Given the description of an element on the screen output the (x, y) to click on. 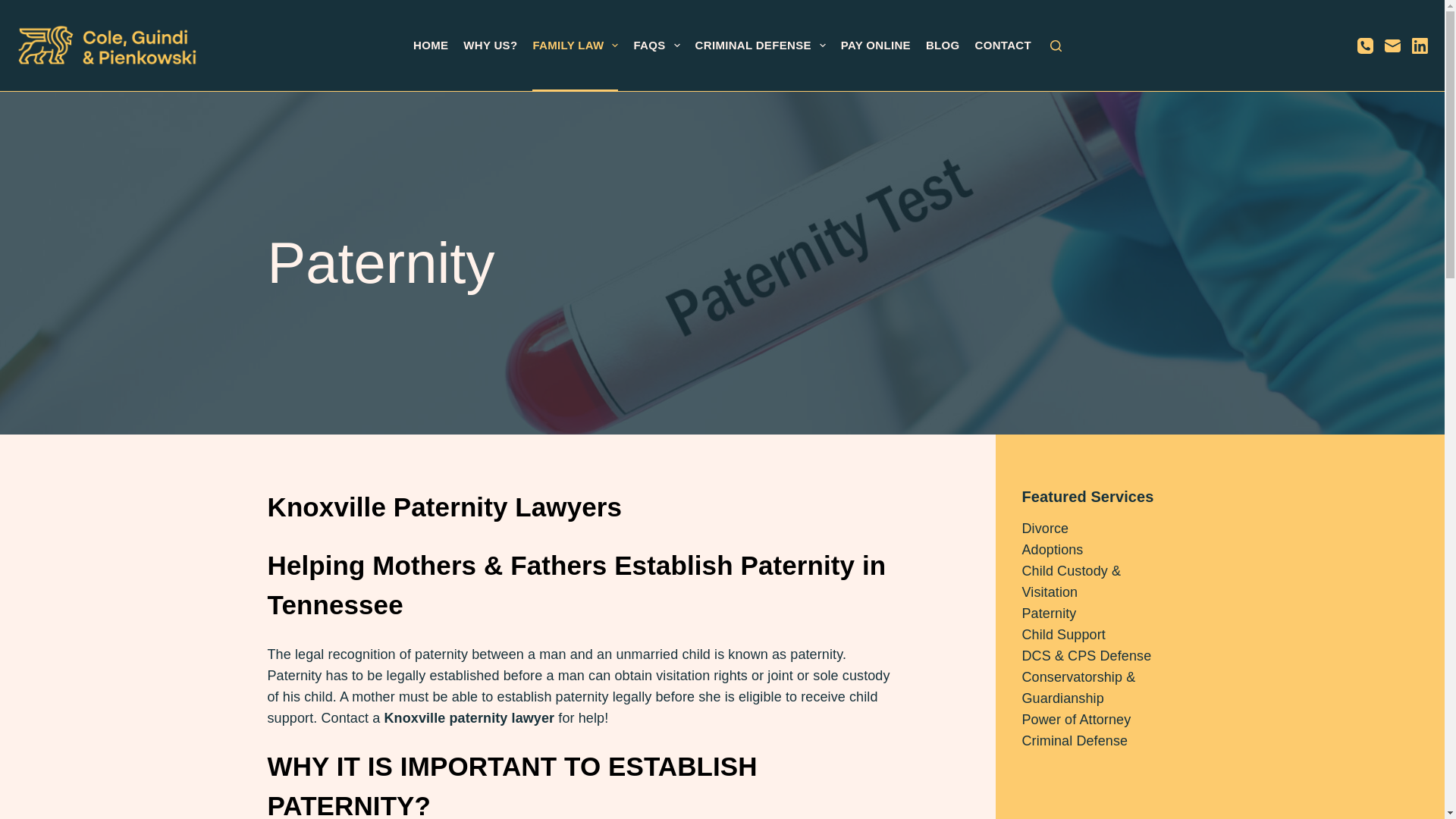
Paternity (721, 262)
Skip to content (15, 7)
